Given the description of an element on the screen output the (x, y) to click on. 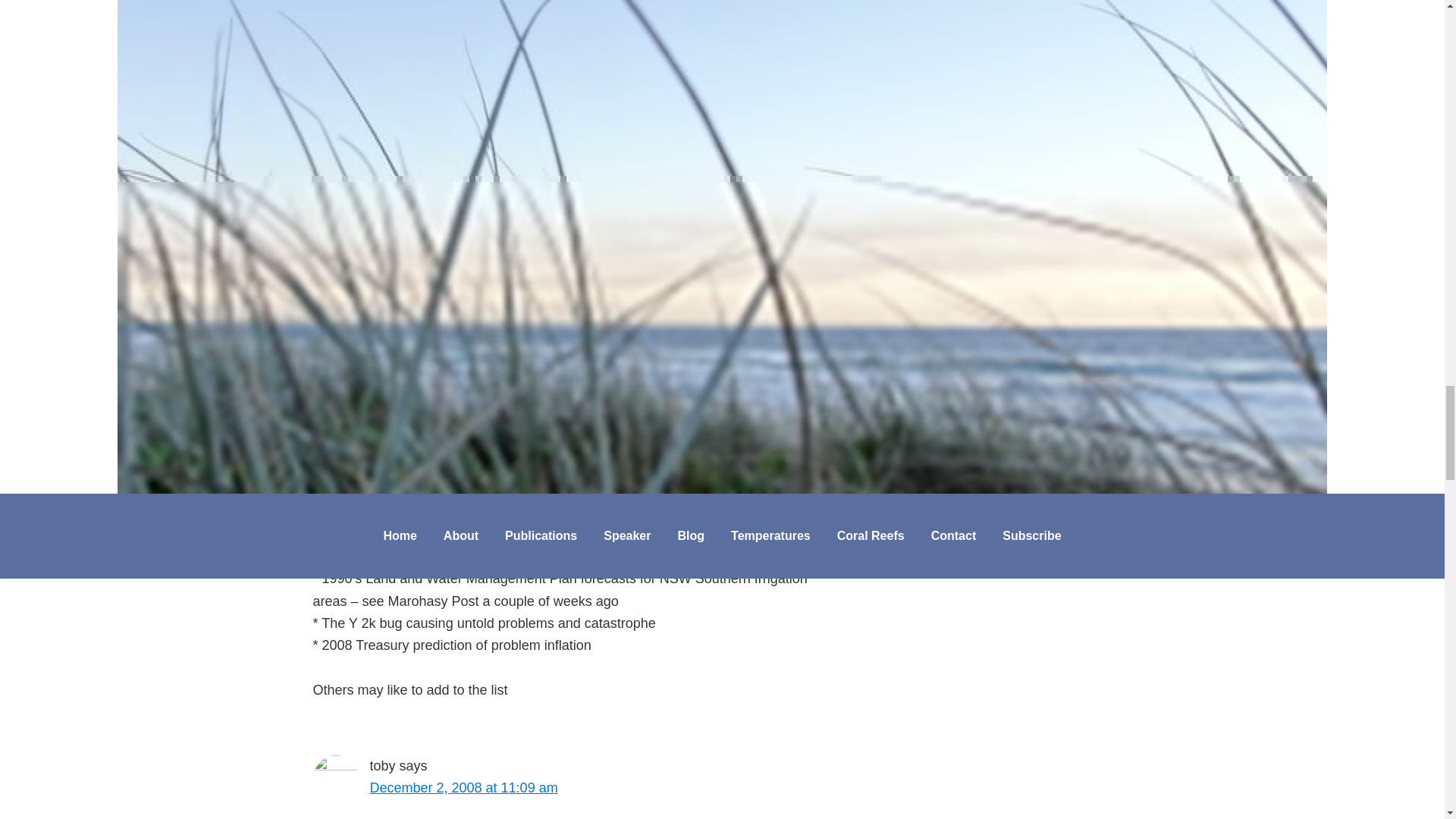
December 2, 2008 at 9:54 am (459, 422)
December 2, 2008 at 11:09 am (463, 787)
December 2, 2008 at 9:44 am (459, 191)
